Given the description of an element on the screen output the (x, y) to click on. 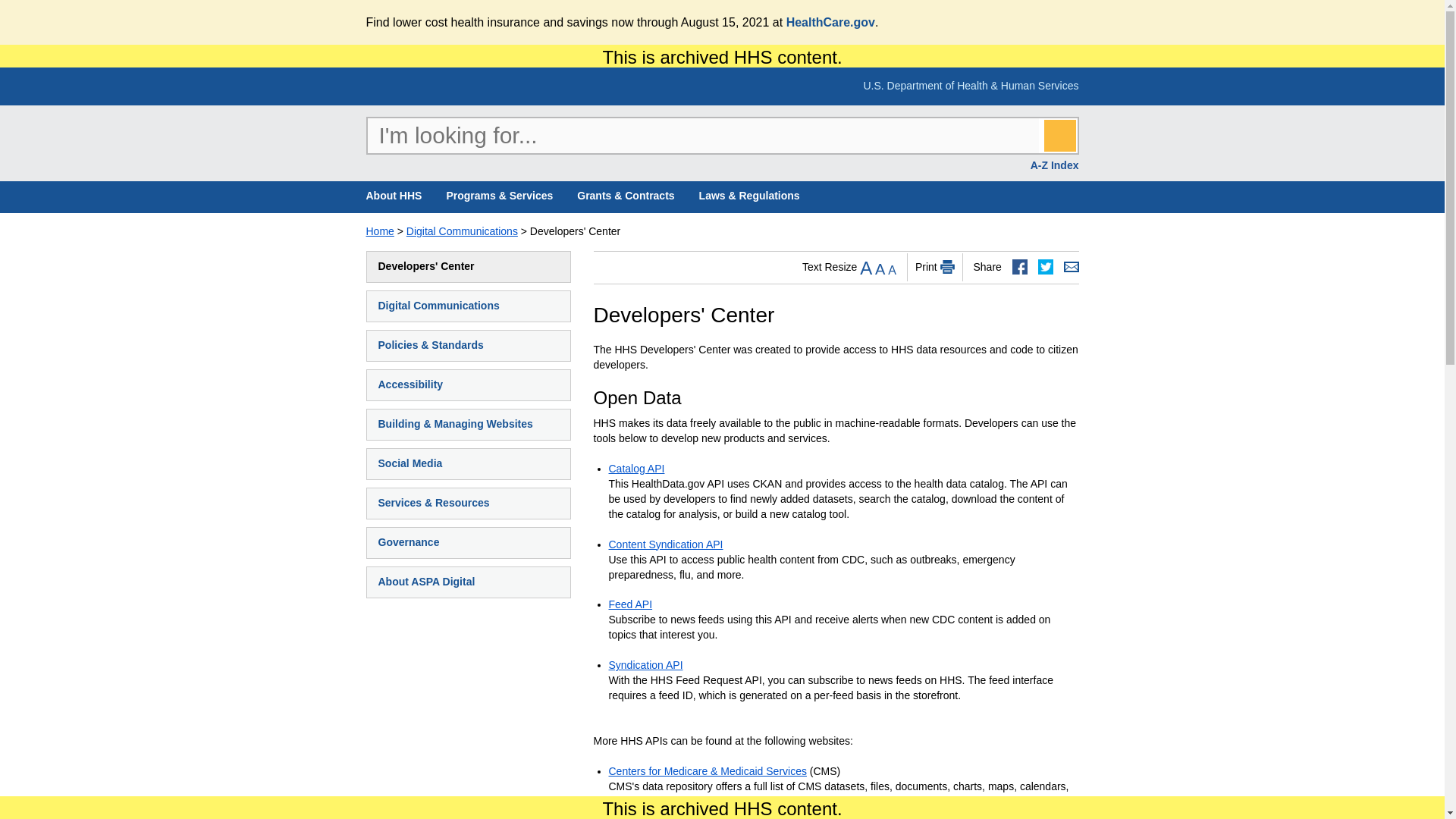
Search (1059, 135)
Print (947, 267)
Email (1070, 267)
Digital Communications (468, 306)
Digital Communications (462, 231)
About HHS (393, 196)
Facebook (1019, 267)
Developers' Center (468, 266)
HealthCare.gov (830, 21)
